Given the description of an element on the screen output the (x, y) to click on. 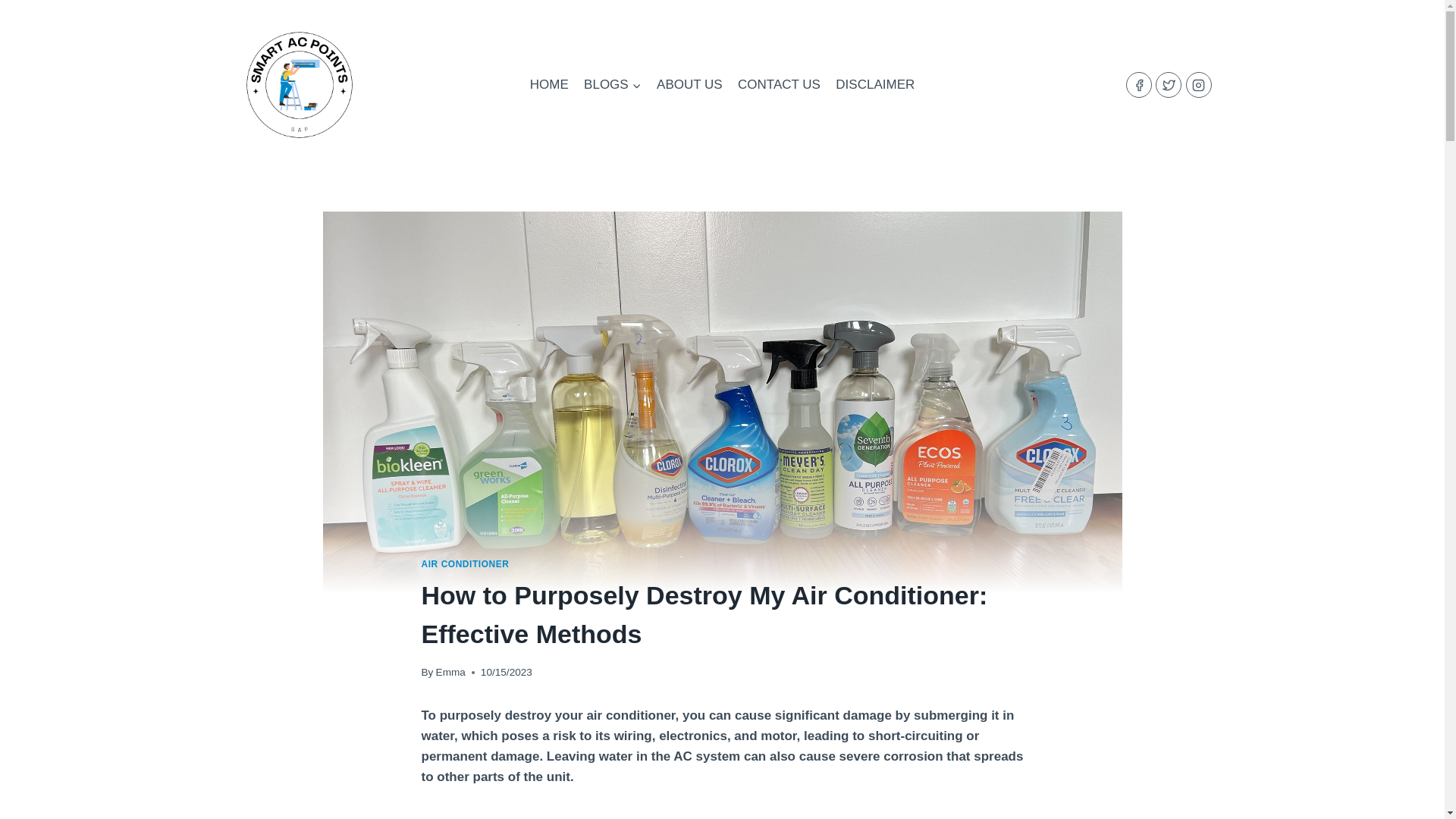
BLOGS (612, 84)
ABOUT US (689, 84)
HOME (549, 84)
Emma (450, 672)
DISCLAIMER (874, 84)
AIR CONDITIONER (465, 563)
CONTACT US (779, 84)
